Given the description of an element on the screen output the (x, y) to click on. 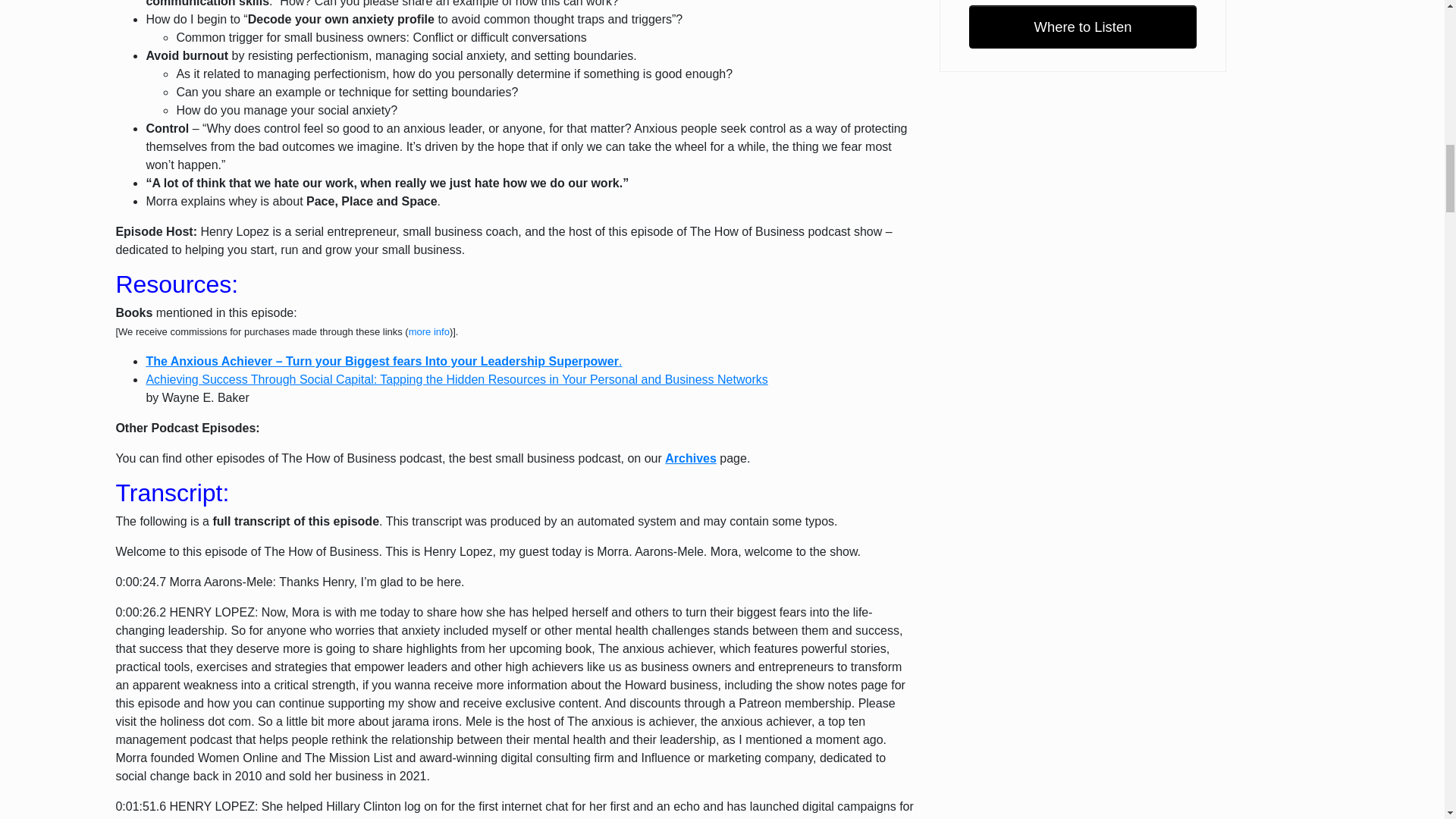
more info (429, 331)
Archives (690, 458)
